Given the description of an element on the screen output the (x, y) to click on. 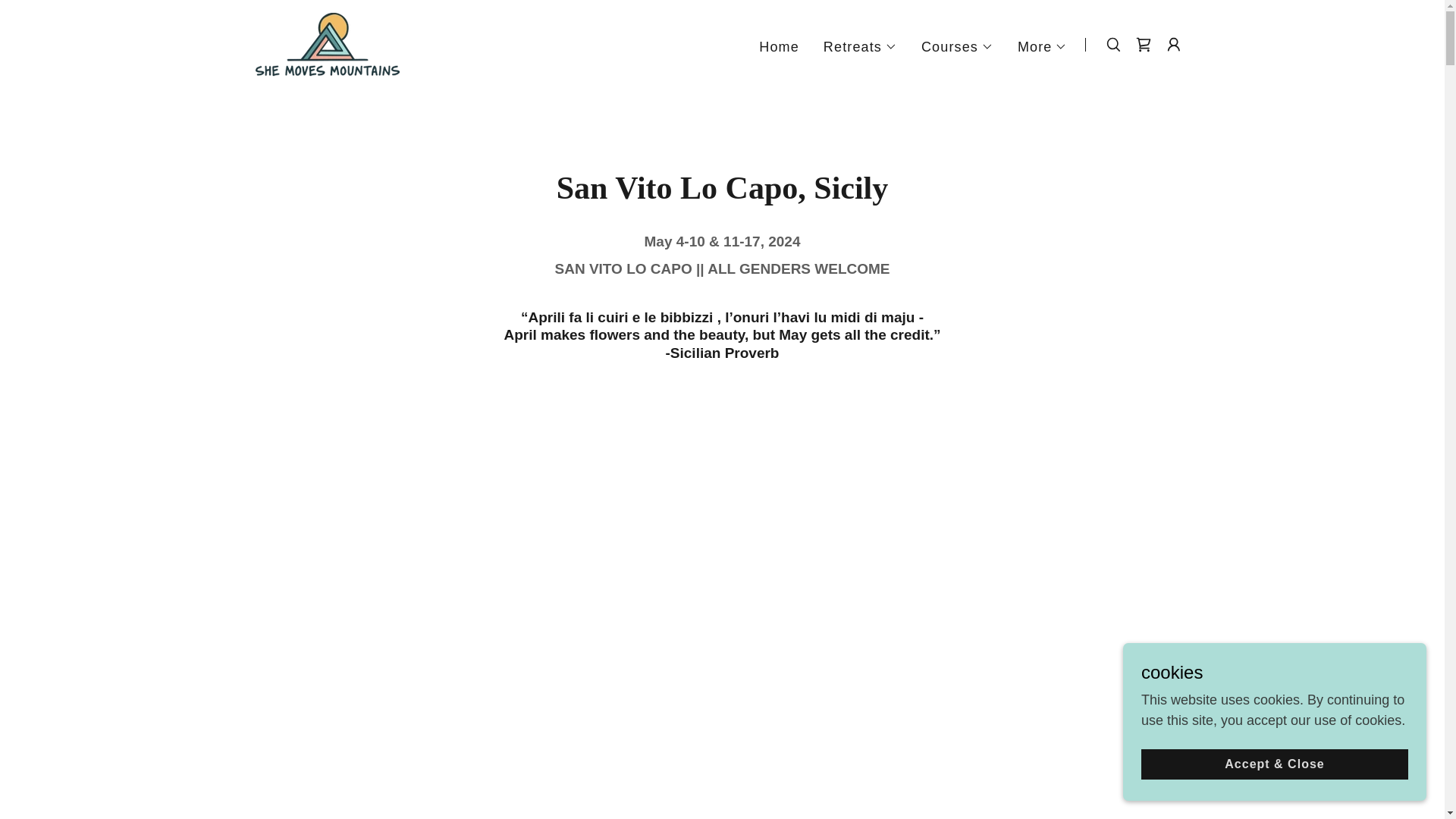
Courses (956, 46)
Home (778, 46)
She Moves Mountains (326, 43)
More (1042, 46)
Retreats (860, 46)
